Given the description of an element on the screen output the (x, y) to click on. 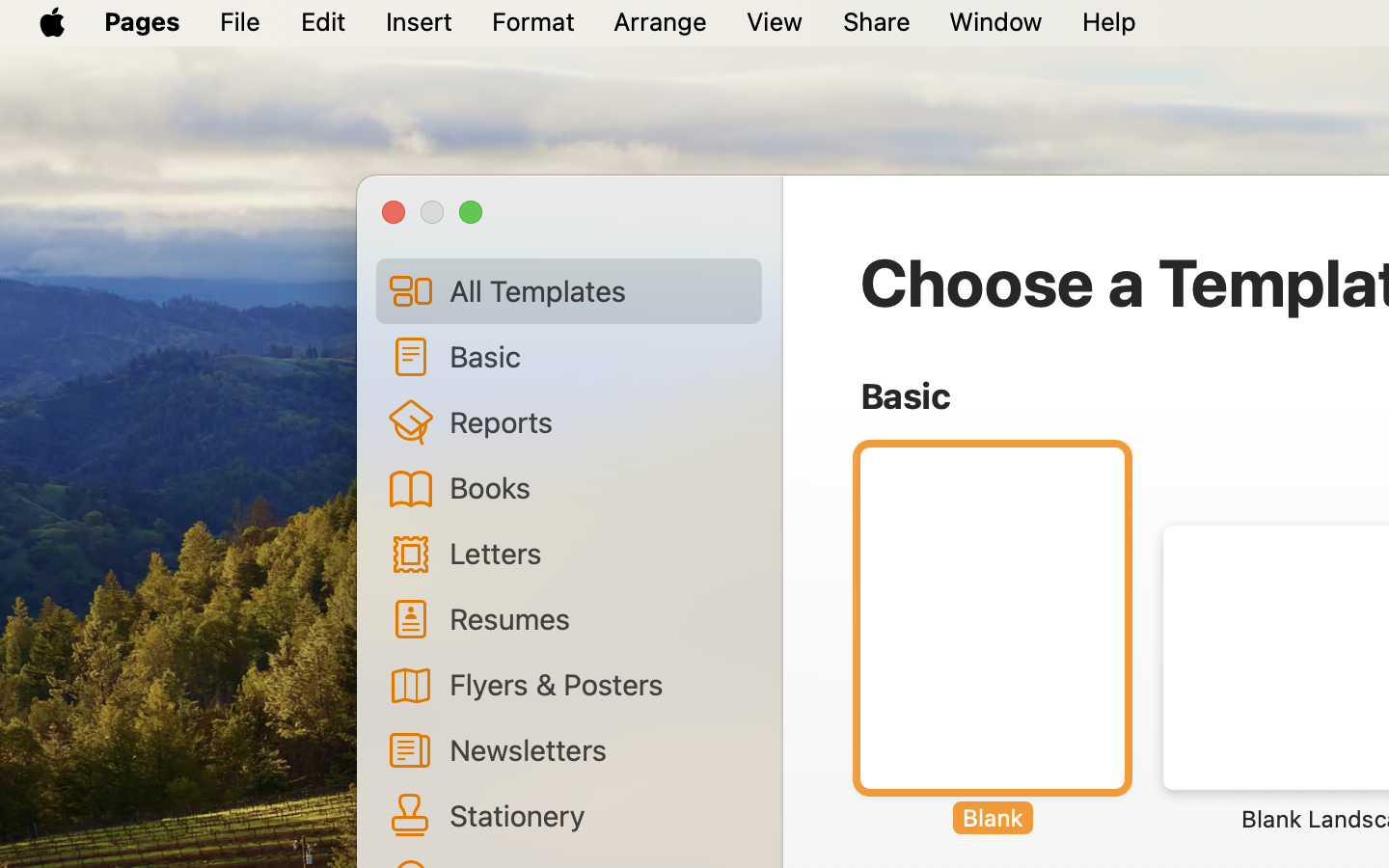
Basic Element type: AXStaticText (597, 355)
Letters Element type: AXStaticText (597, 552)
Newsletters Element type: AXStaticText (597, 749)
Stationery Element type: AXStaticText (597, 814)
